Given the description of an element on the screen output the (x, y) to click on. 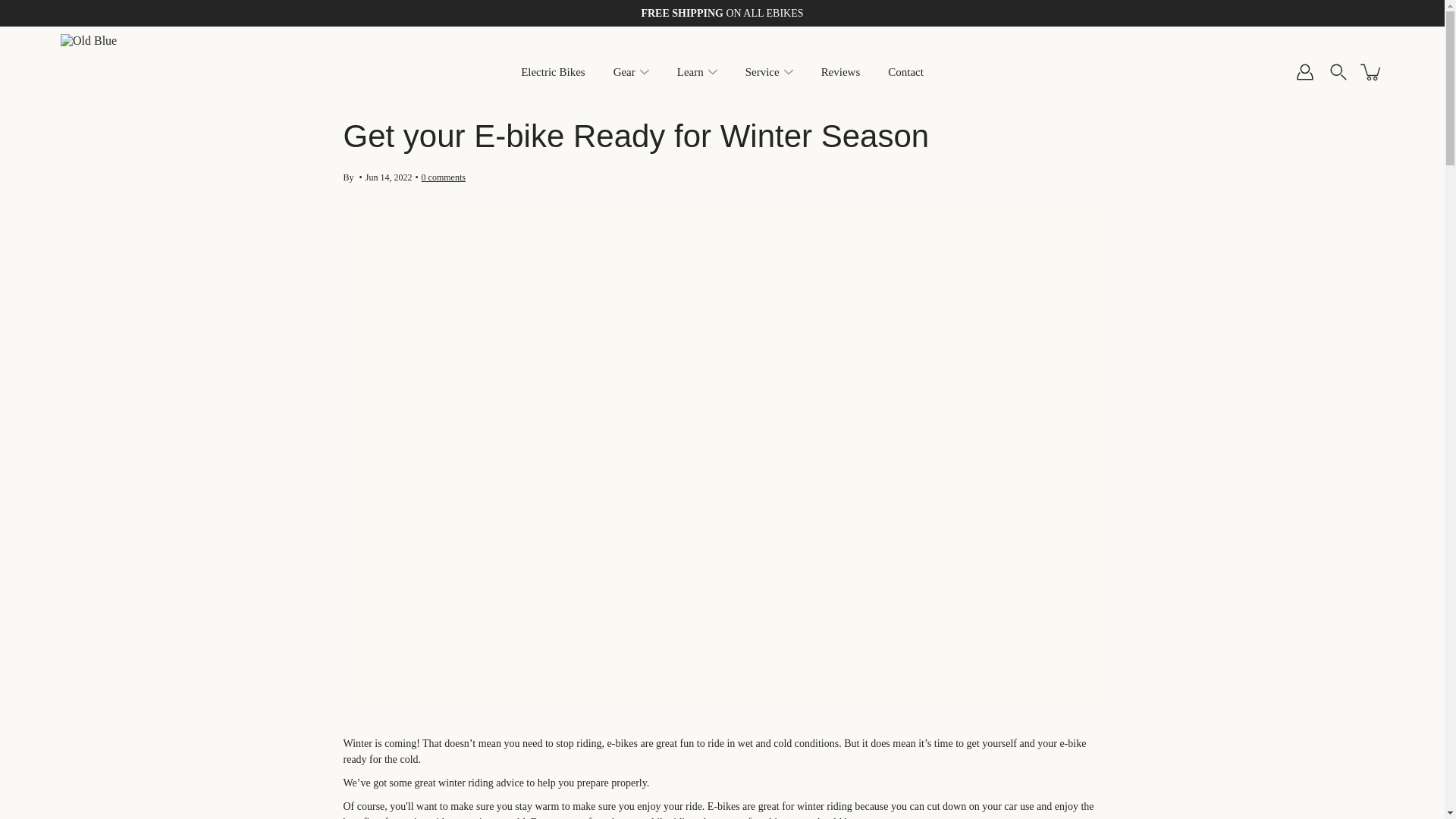
Reviews (840, 72)
Gear (623, 72)
Service (761, 72)
Electric Bikes (553, 72)
Learn (690, 72)
FREE SHIPPING ON ALL EBIKES (722, 12)
Contact (905, 72)
